Given the description of an element on the screen output the (x, y) to click on. 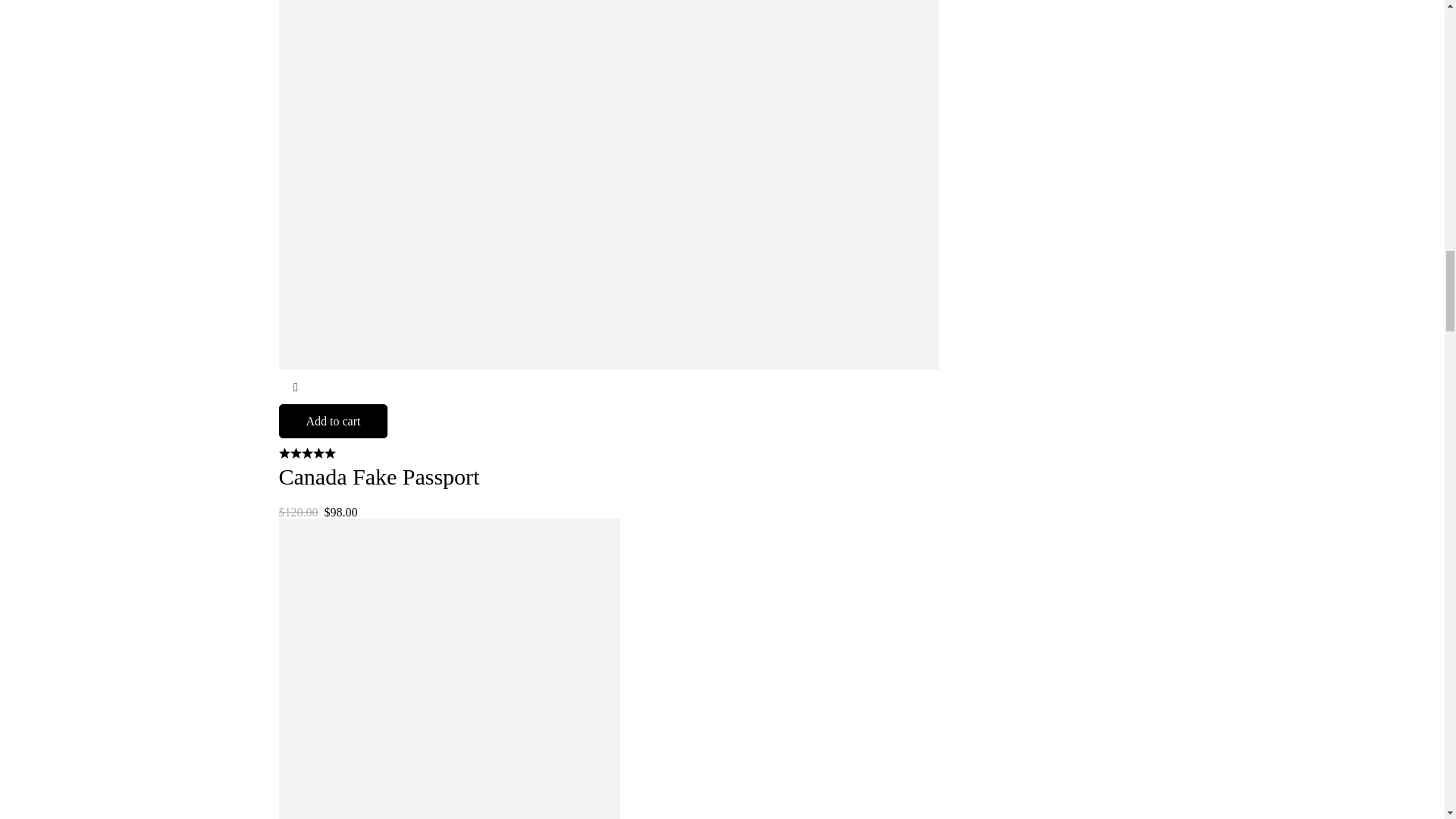
Add to cart (333, 421)
Quick view (296, 387)
Canada Fake Passport (379, 476)
